Given the description of an element on the screen output the (x, y) to click on. 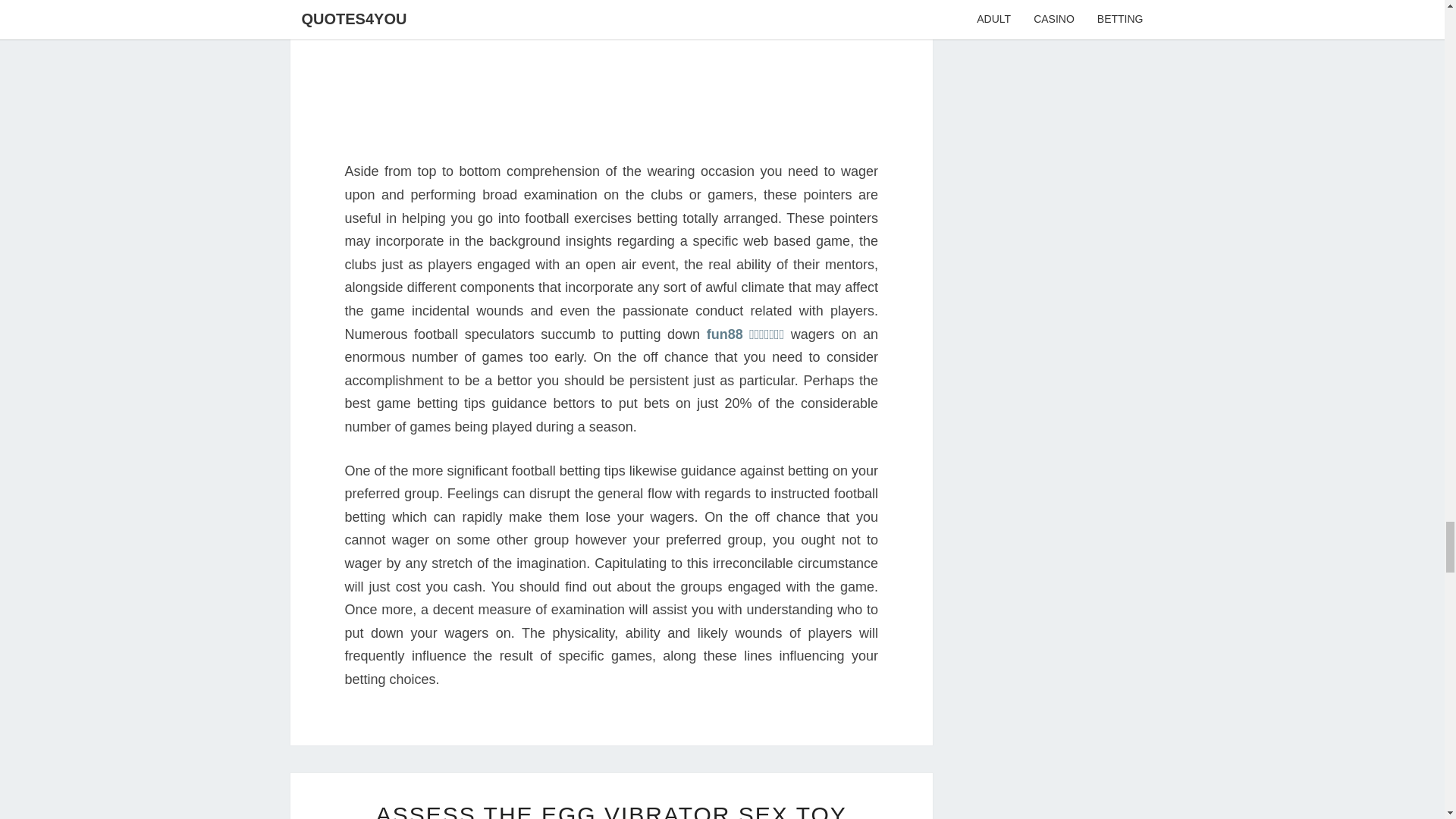
ASSESS THE EGG VIBRATOR SEX TOY (611, 810)
